Given the description of an element on the screen output the (x, y) to click on. 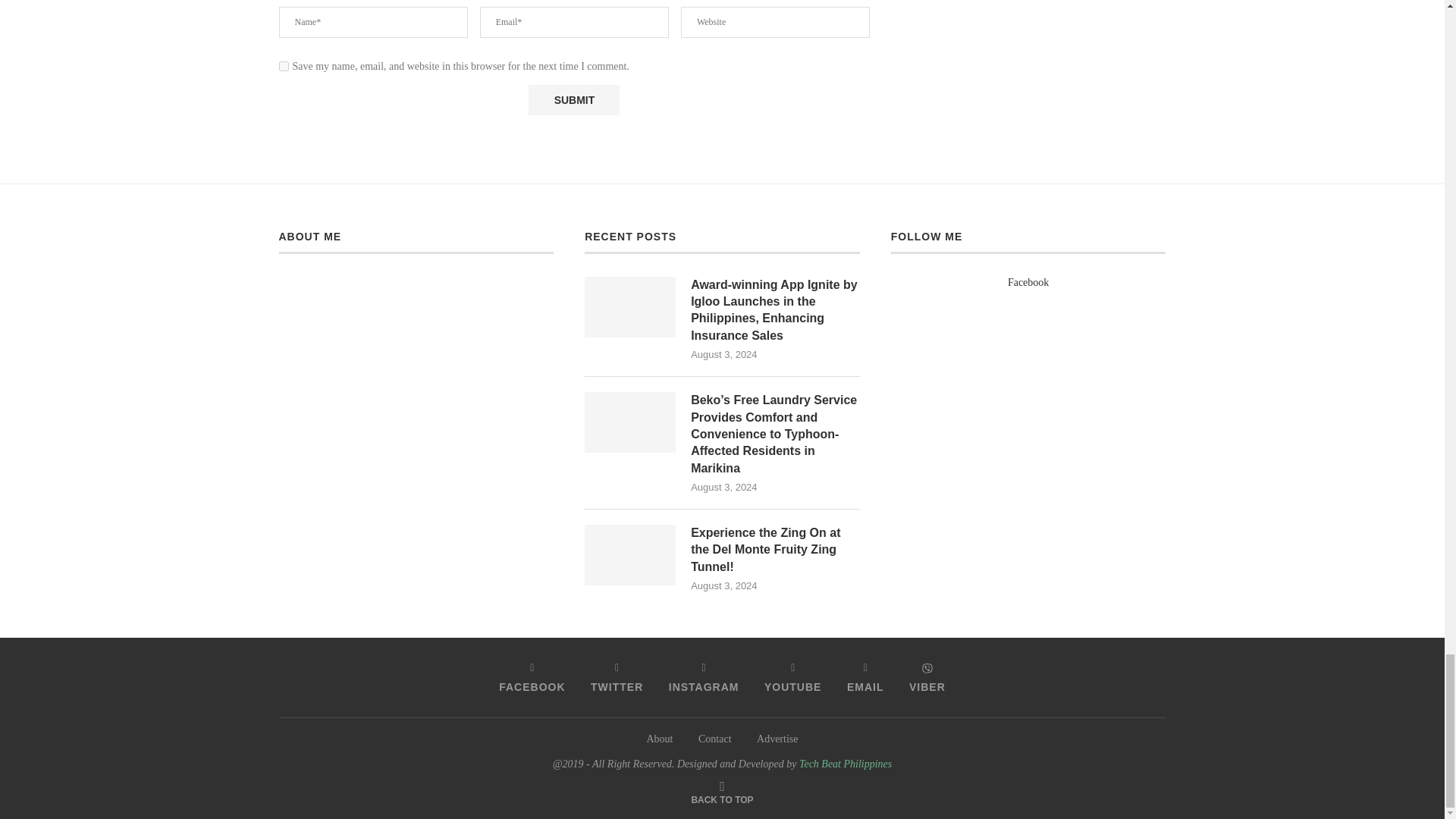
Submit (574, 100)
yes (283, 66)
Experience the Zing On at the Del Monte Fruity Zing Tunnel! (775, 549)
Experience the Zing On at the Del Monte Fruity Zing Tunnel! (630, 554)
